Given the description of an element on the screen output the (x, y) to click on. 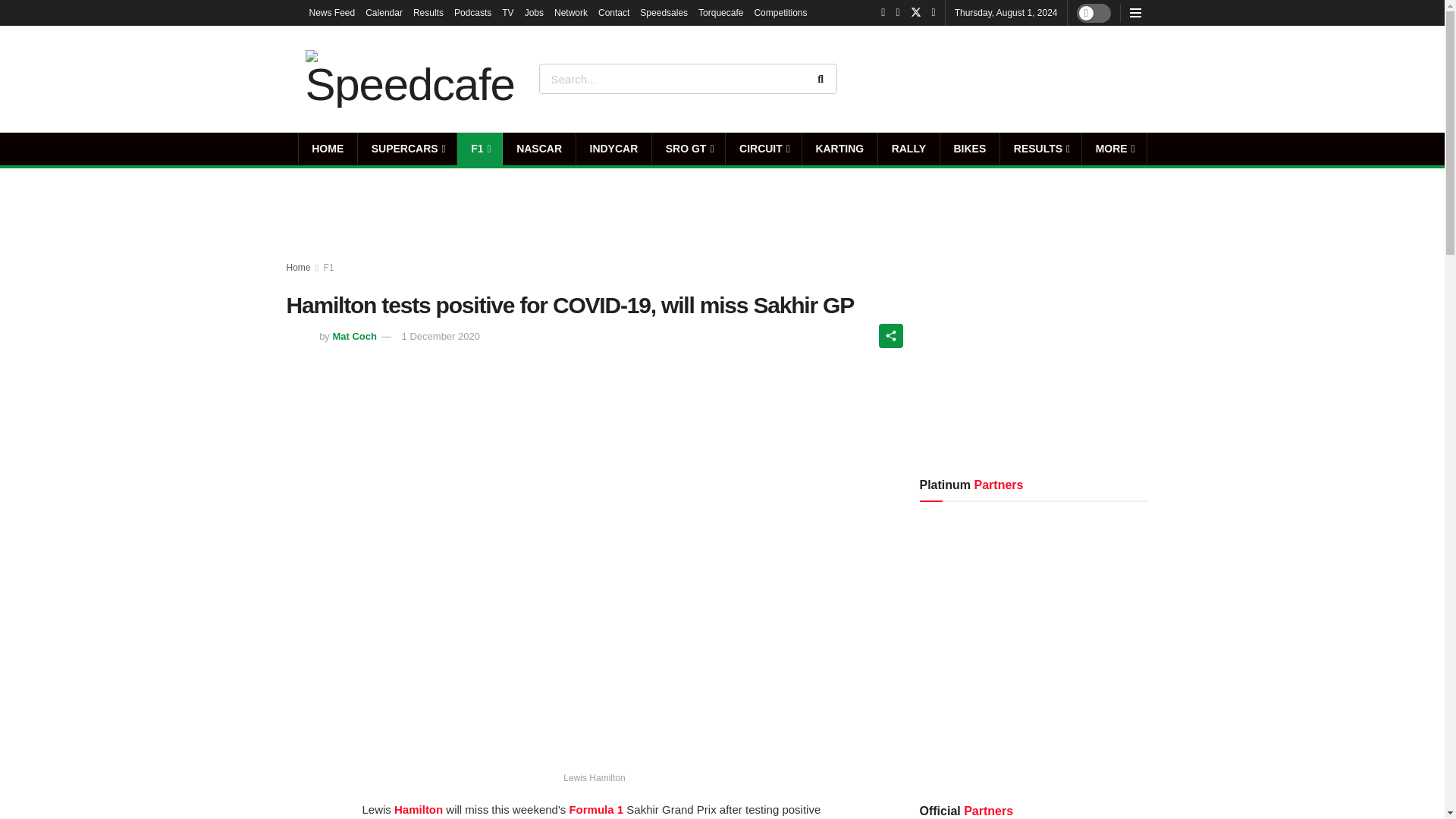
Podcasts (473, 12)
Truck Assist (1097, 78)
News Feed (331, 12)
F1 (479, 148)
SUPERCARS (407, 148)
Network (571, 12)
Torquecafe (720, 12)
HOME (327, 148)
Competitions (780, 12)
Calendar (384, 12)
